Given the description of an element on the screen output the (x, y) to click on. 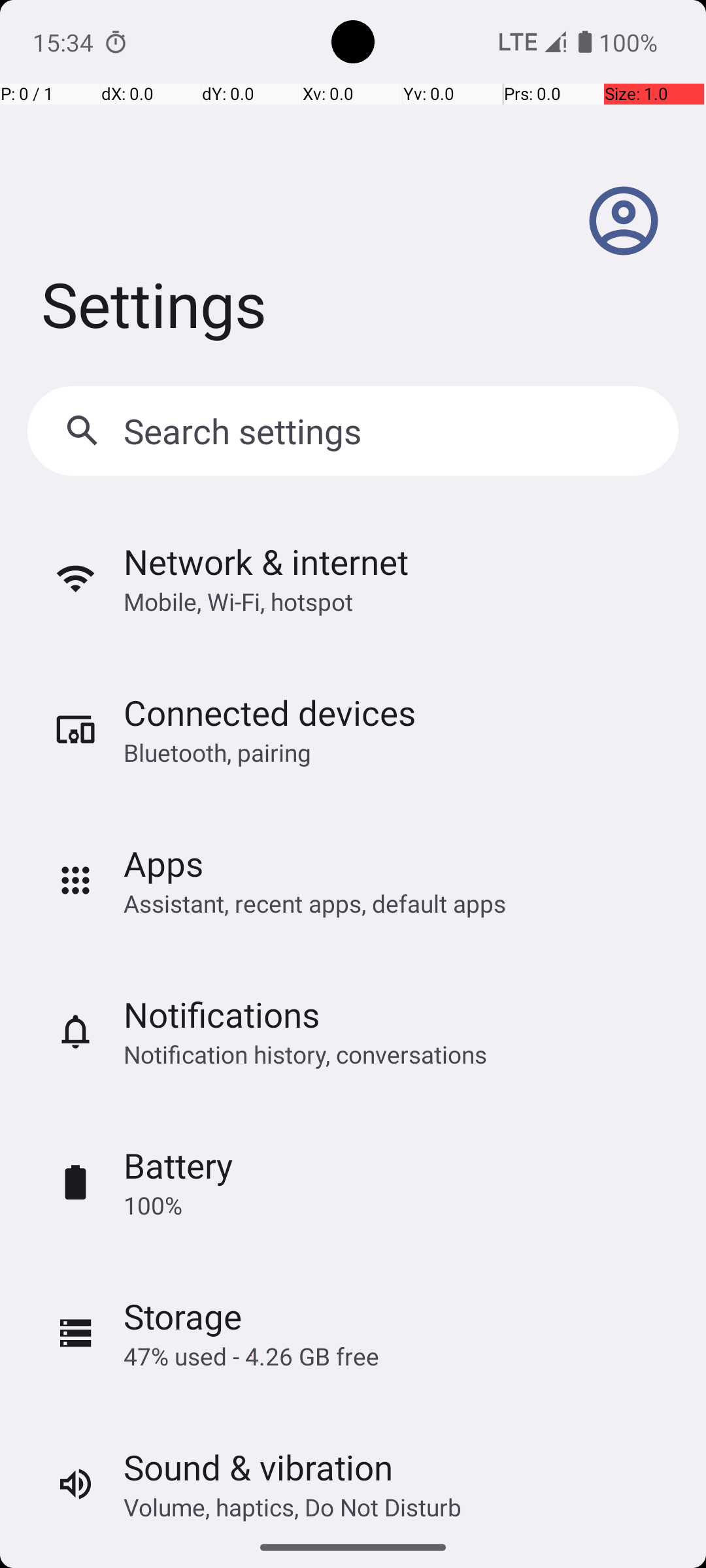
47% used - 4.26 GB free Element type: android.widget.TextView (251, 1355)
